Given the description of an element on the screen output the (x, y) to click on. 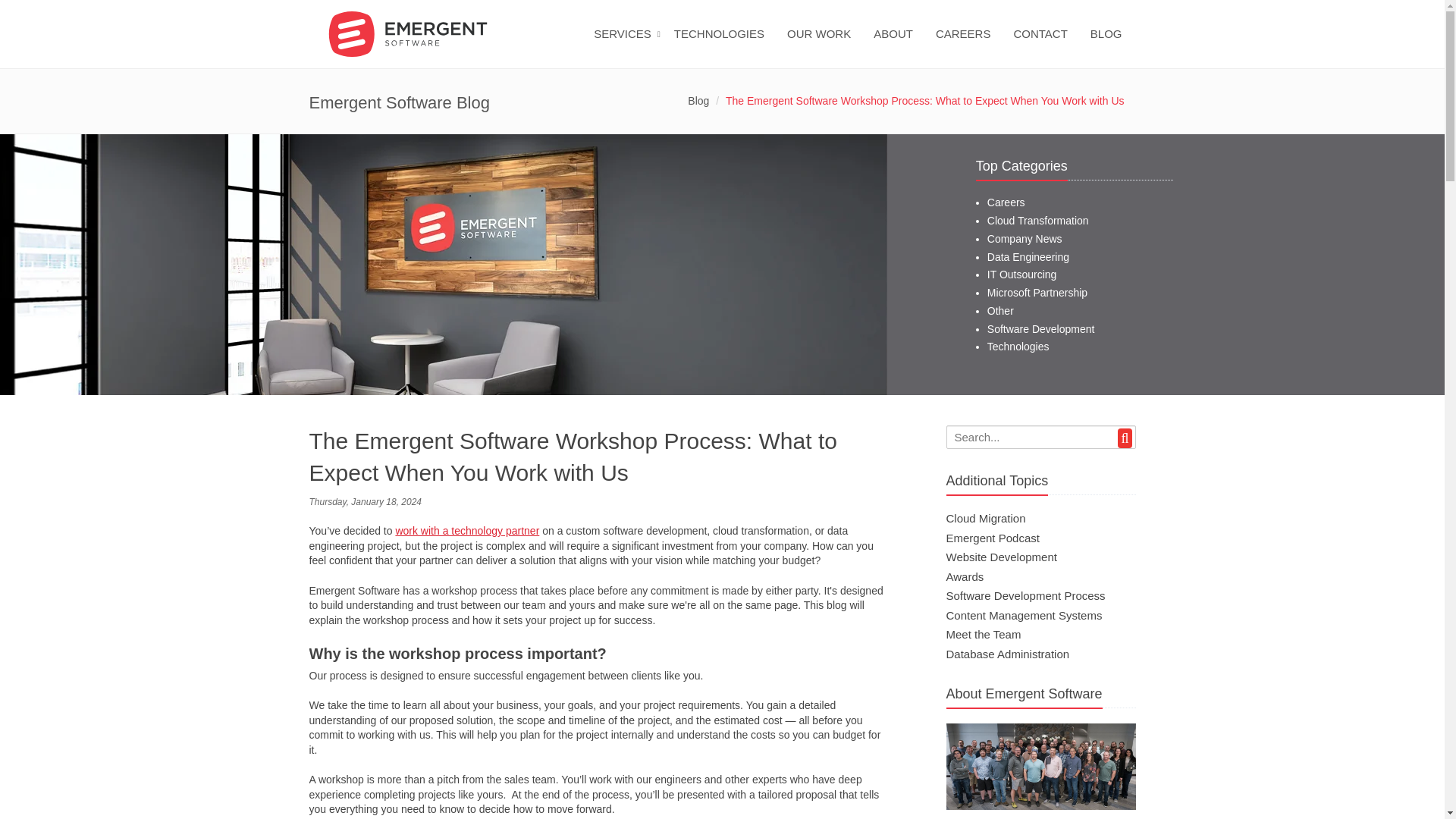
work with a technology partner (466, 530)
Website Development (1001, 556)
SERVICES (626, 44)
Company News (1024, 238)
Software Development (1040, 328)
TECHNOLOGIES (722, 44)
Careers (1006, 202)
CONTACT (1043, 44)
IT Outsourcing (1022, 274)
Awards (965, 576)
ABOUT (897, 44)
Cloud Migration (986, 517)
Data Engineering (1027, 256)
BLOG (1110, 44)
Microsoft Partnership (1037, 292)
